Given the description of an element on the screen output the (x, y) to click on. 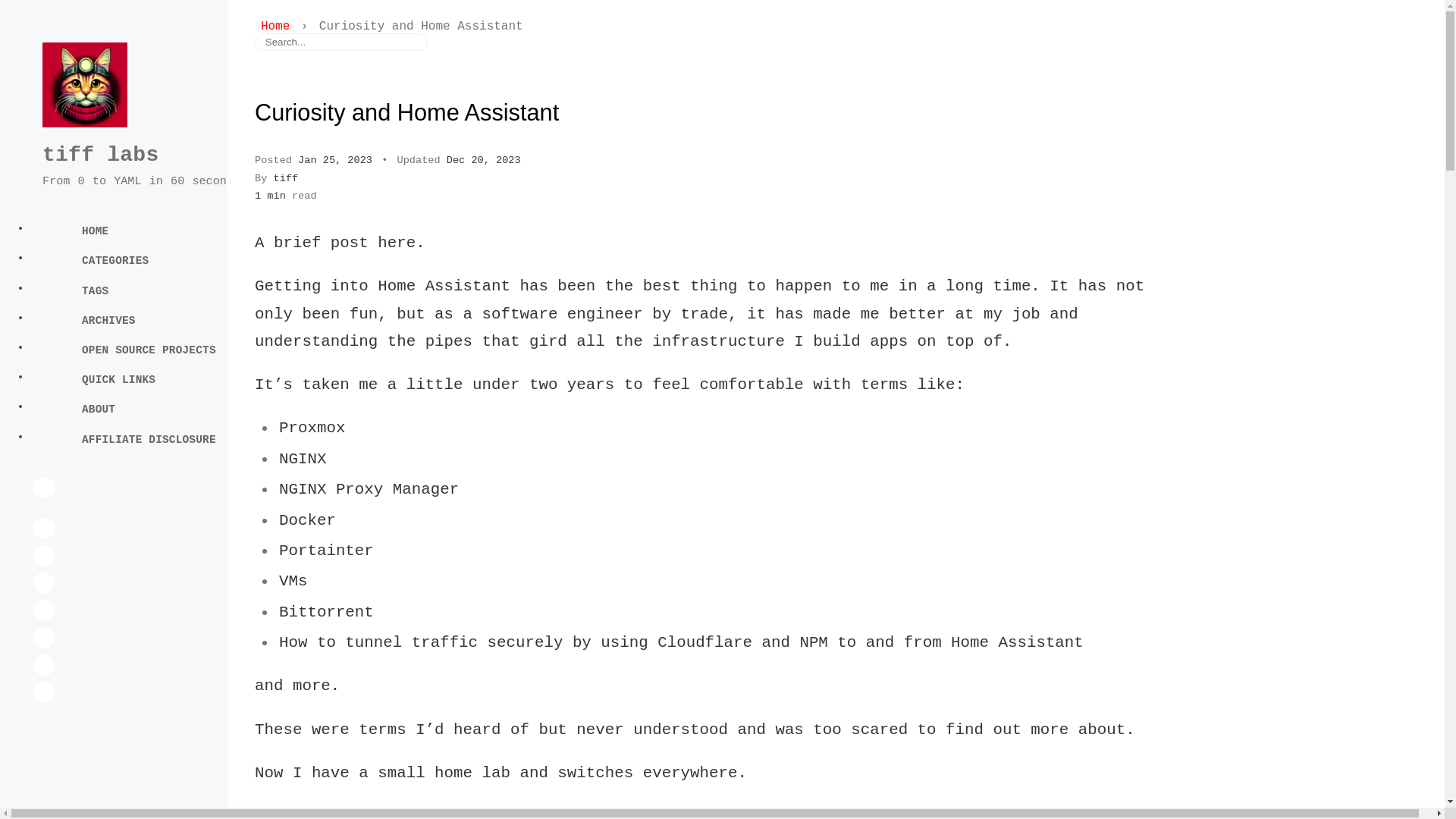
181 words (285, 195)
ARCHIVES (162, 320)
tiff (285, 178)
tiff labs (100, 155)
TAGS (162, 290)
HOME (162, 231)
ABOUT (162, 409)
Home (278, 26)
CATEGORIES (162, 261)
AFFILIATE DISCLOSURE (162, 438)
OPEN SOURCE PROJECTS (162, 349)
QUICK LINKS (162, 379)
